Given the description of an element on the screen output the (x, y) to click on. 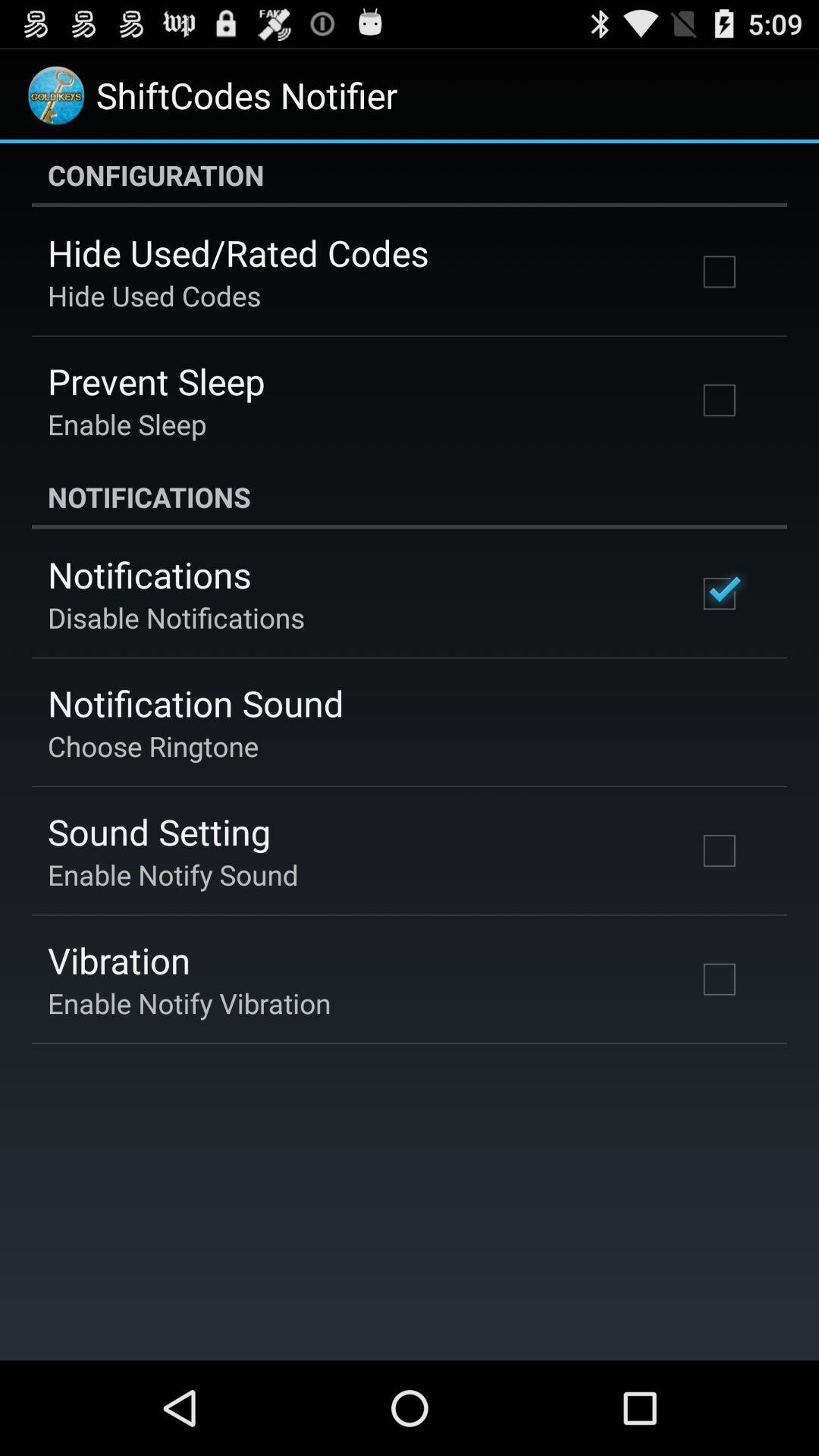
tap enable sleep app (126, 424)
